Given the description of an element on the screen output the (x, y) to click on. 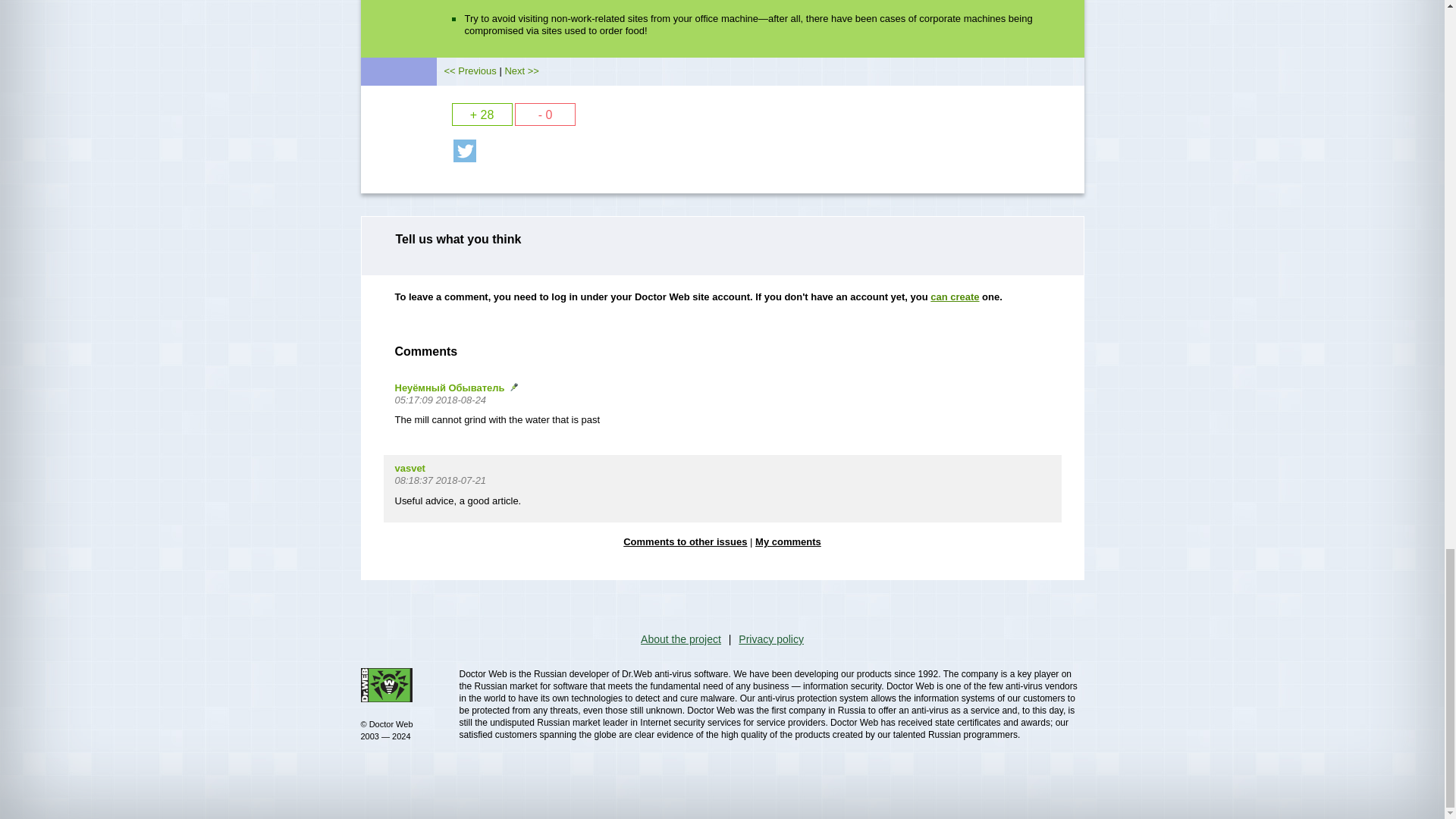
Shock therapy for the lazy and ignorant (520, 70)
Shared 15 times (464, 150)
Taming traffic gobblers (470, 70)
